Given the description of an element on the screen output the (x, y) to click on. 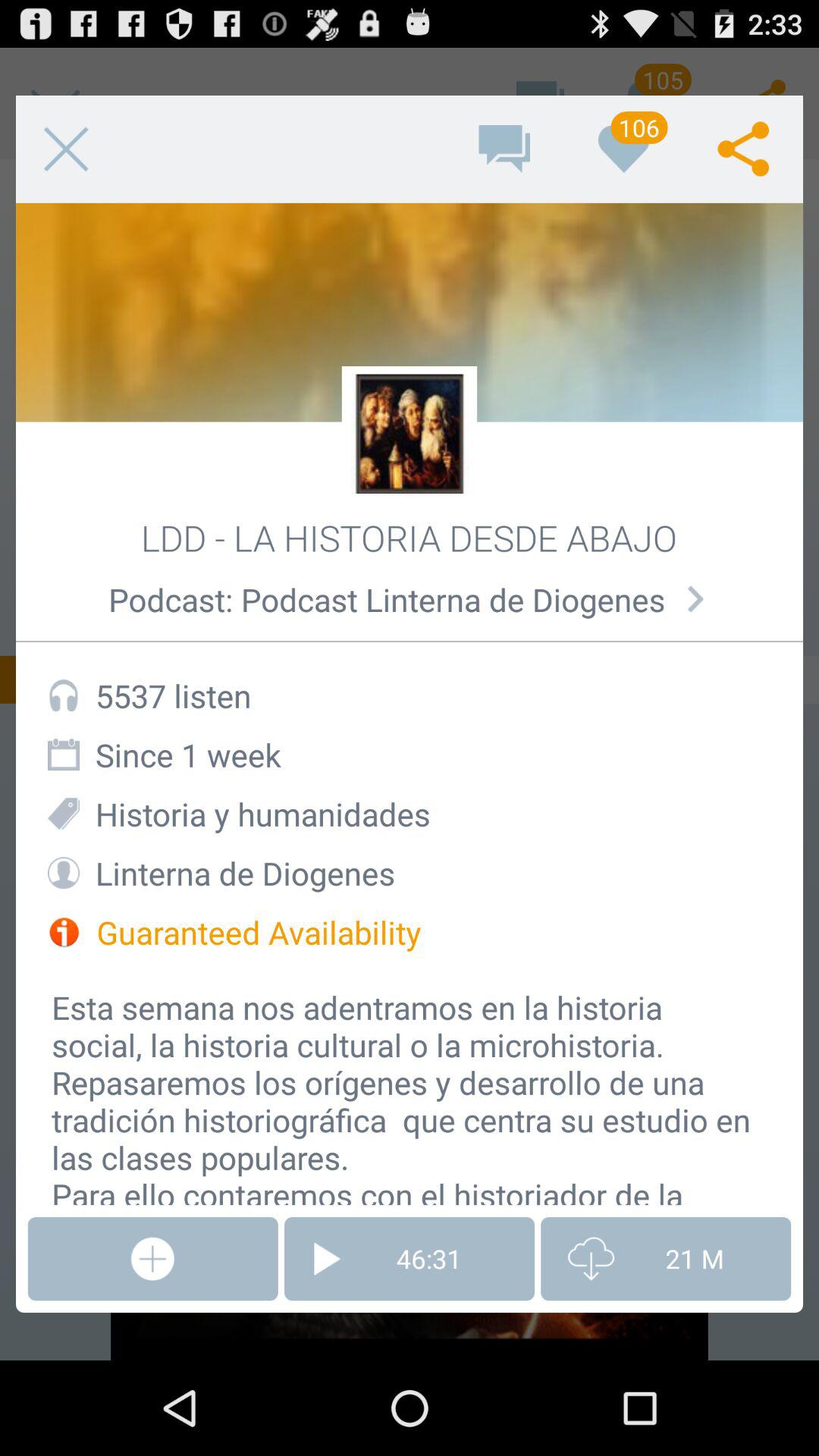
press the item below esta semana nos item (409, 1258)
